Given the description of an element on the screen output the (x, y) to click on. 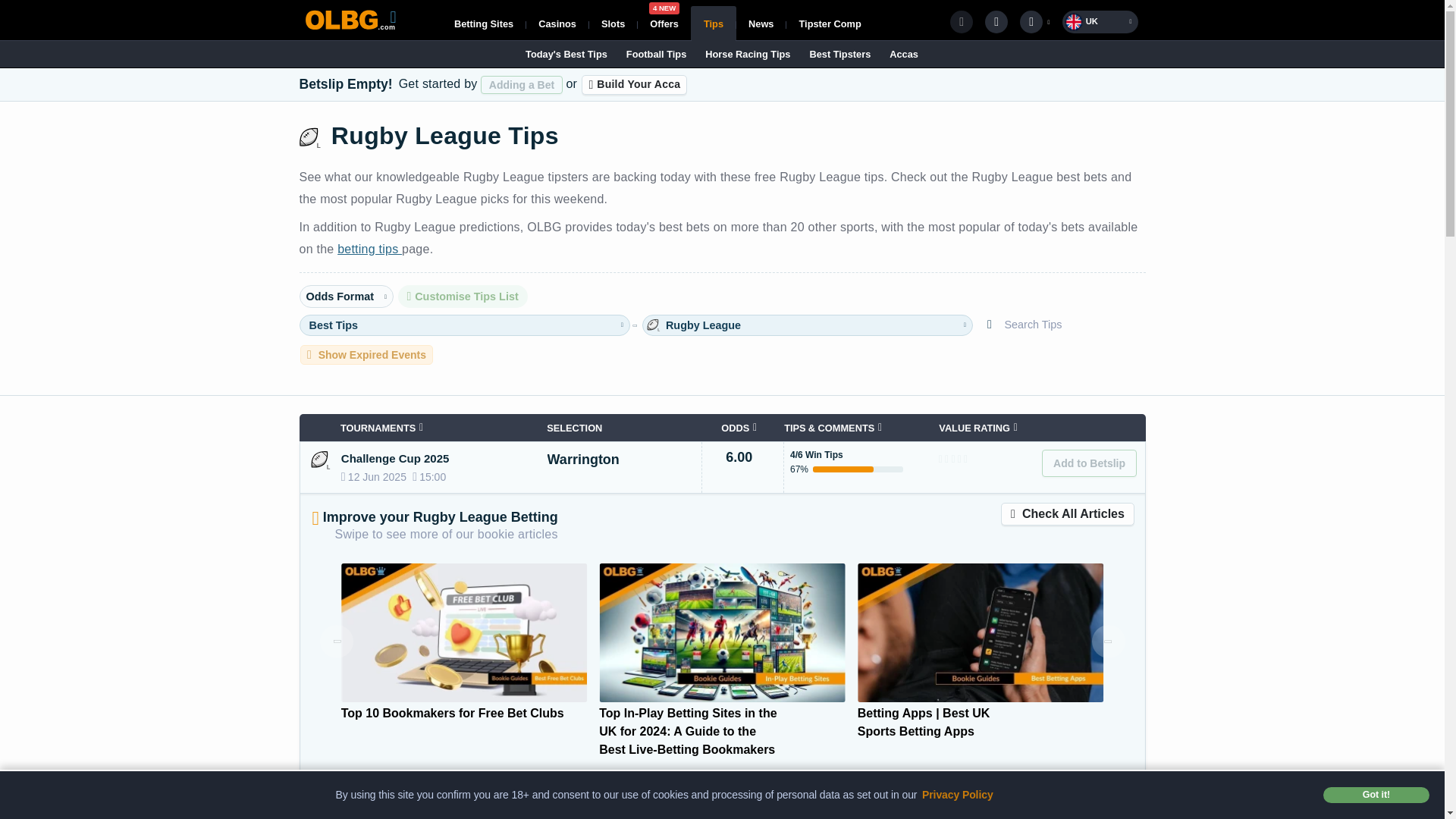
Tips (713, 23)
Tipster Comp (663, 23)
Casinos (829, 23)
News (556, 23)
Build Your Acca (761, 23)
Slots (483, 23)
Please use only letters, spaces and numbers (633, 85)
